Given the description of an element on the screen output the (x, y) to click on. 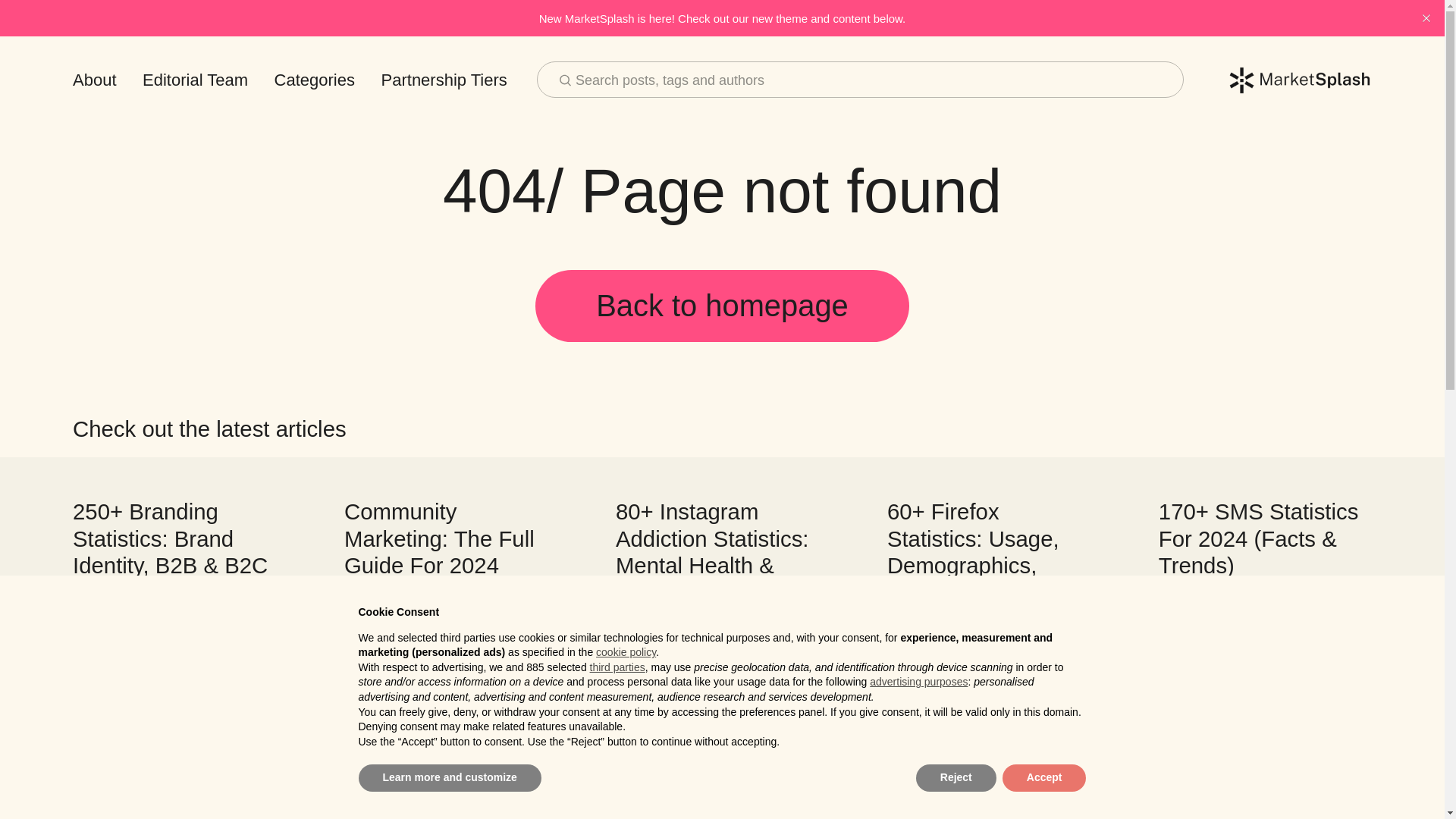
Accept (1044, 777)
advertising purposes (918, 682)
Editorial Team (194, 79)
Back to homepage (721, 306)
Learn more and customize (449, 777)
third parties (617, 667)
About (94, 79)
Community Marketing: The Full Guide For 2024 (438, 537)
Categories (315, 79)
cookie policy (625, 652)
